Given the description of an element on the screen output the (x, y) to click on. 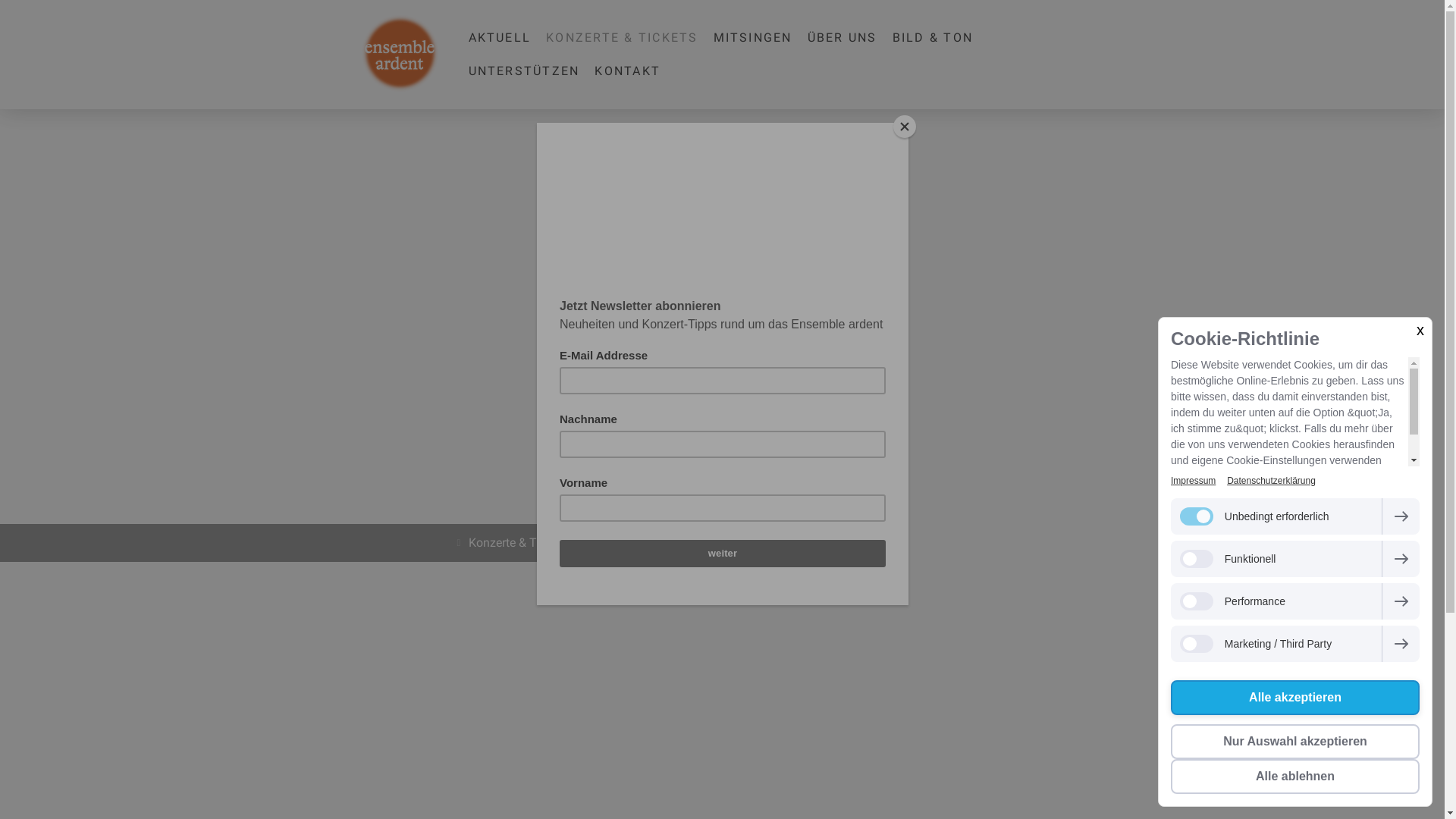
KONZERTE & TICKETS Element type: text (621, 37)
KONTAKT Element type: text (627, 70)
AKTUELL Element type: text (500, 37)
Nur Auswahl akzeptieren Element type: text (1294, 741)
Archiv 2015 Element type: text (642, 542)
Alle akzeptieren Element type: text (1294, 697)
MITSINGEN Element type: text (753, 37)
Impressum Element type: text (1192, 480)
Konzerte & TICKETS Element type: text (518, 542)
Alle ablehnen Element type: text (1294, 776)
BILD & TON Element type: text (932, 37)
